Given the description of an element on the screen output the (x, y) to click on. 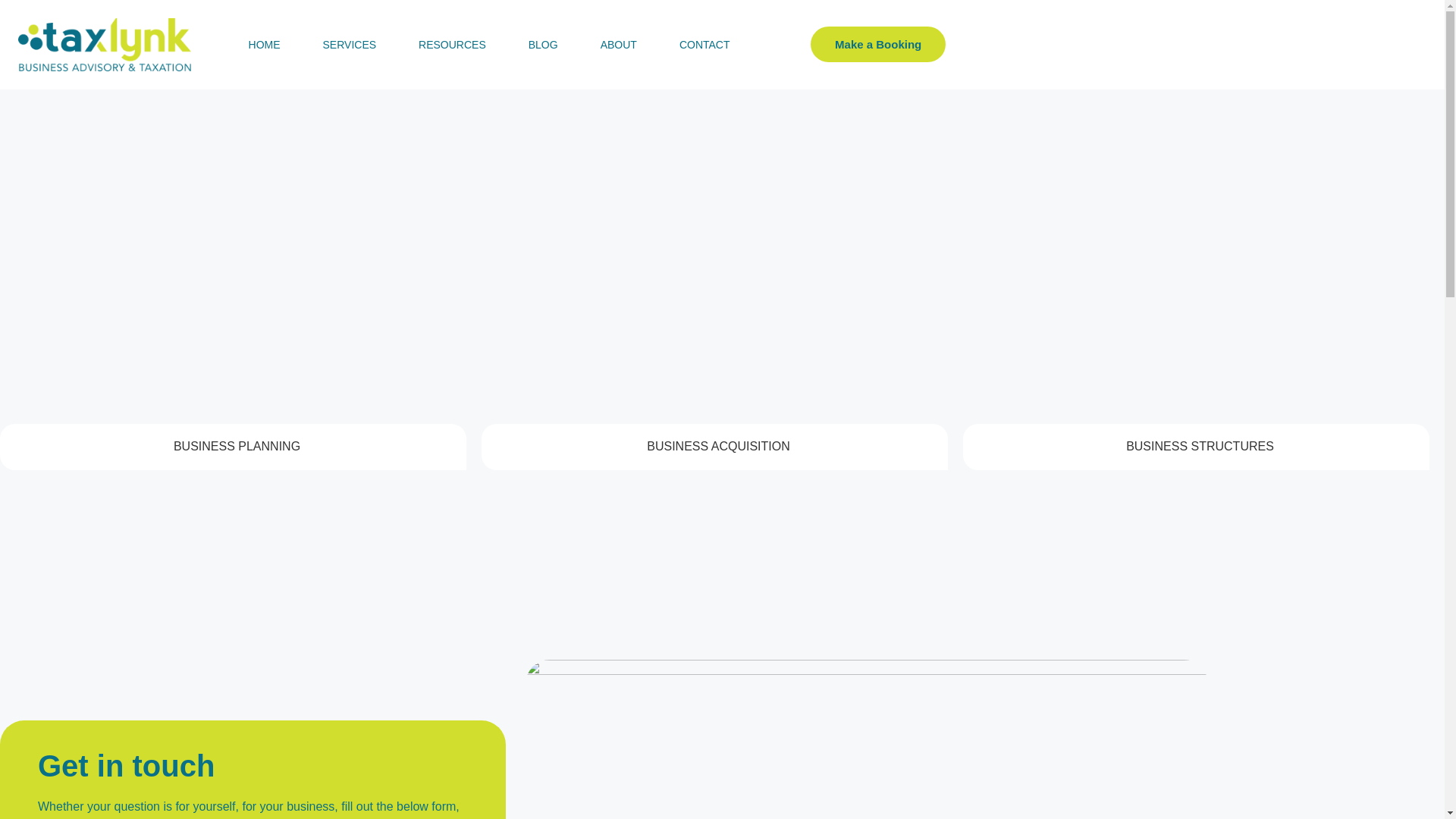
ABOUT (618, 44)
SERVICES (349, 44)
BLOG (542, 44)
Make a Booking (877, 44)
HOME (264, 44)
CONTACT (704, 44)
RESOURCES (451, 44)
